Given the description of an element on the screen output the (x, y) to click on. 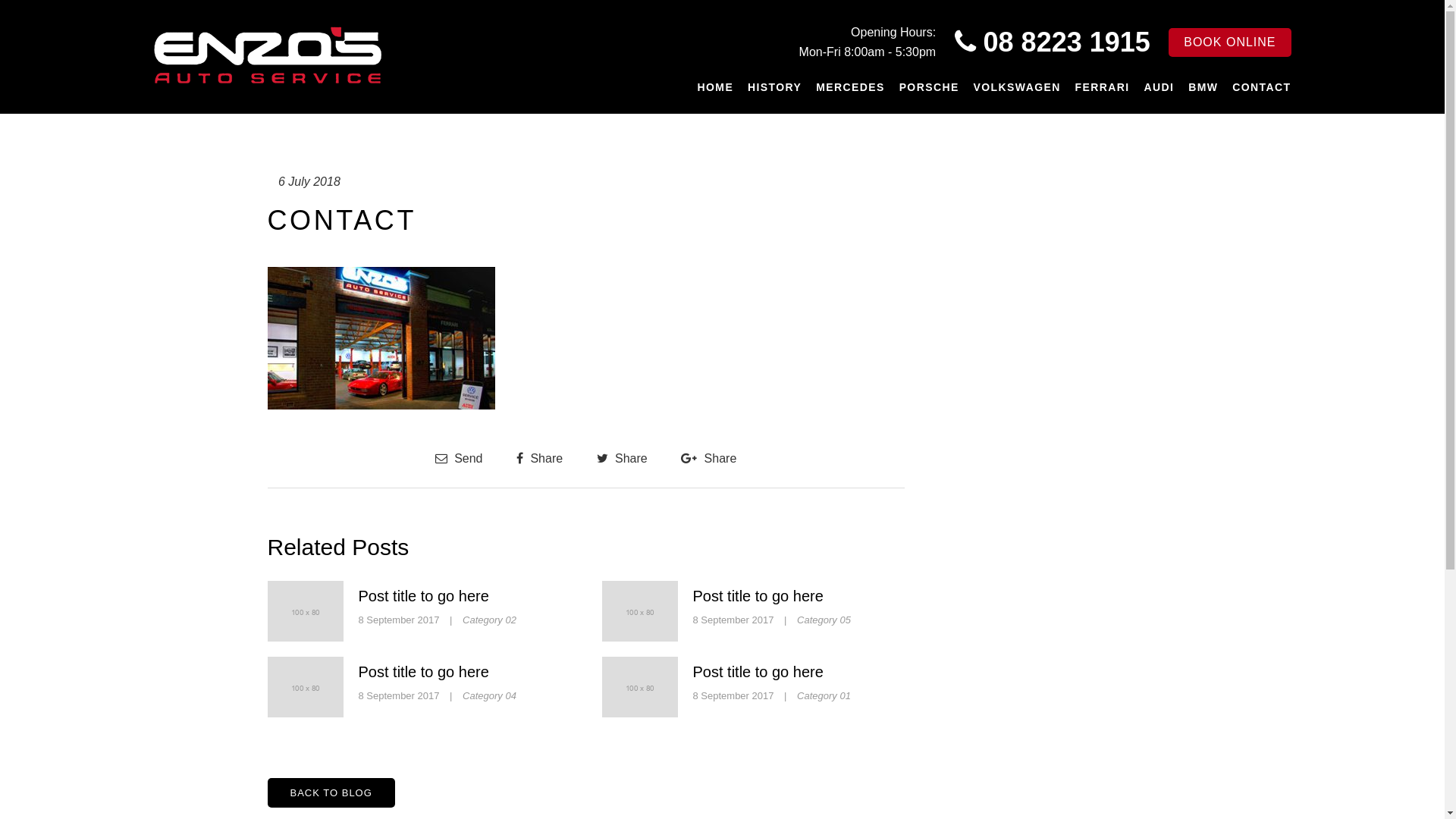
Send Element type: text (459, 457)
Share Element type: text (539, 457)
Category 05 Element type: text (823, 619)
VOLKSWAGEN Element type: text (1016, 87)
Share Element type: text (621, 457)
HISTORY Element type: text (774, 87)
FERRARI Element type: text (1102, 87)
Post title to go here Element type: text (758, 595)
HOME Element type: text (715, 87)
BMW Element type: text (1202, 87)
Category 04 Element type: text (489, 695)
Post title to go here Element type: text (758, 671)
CONTACT Element type: text (1261, 87)
08 8223 1915 Element type: text (1066, 41)
PORSCHE Element type: text (929, 87)
AUDI Element type: text (1158, 87)
Share Element type: text (708, 457)
Post title to go here Element type: text (422, 595)
Post title to go here Element type: text (422, 671)
MERCEDES Element type: text (849, 87)
Category 01 Element type: text (823, 695)
BOOK ONLINE Element type: text (1229, 42)
Category 02 Element type: text (489, 619)
BACK TO BLOG Element type: text (330, 792)
